Given the description of an element on the screen output the (x, y) to click on. 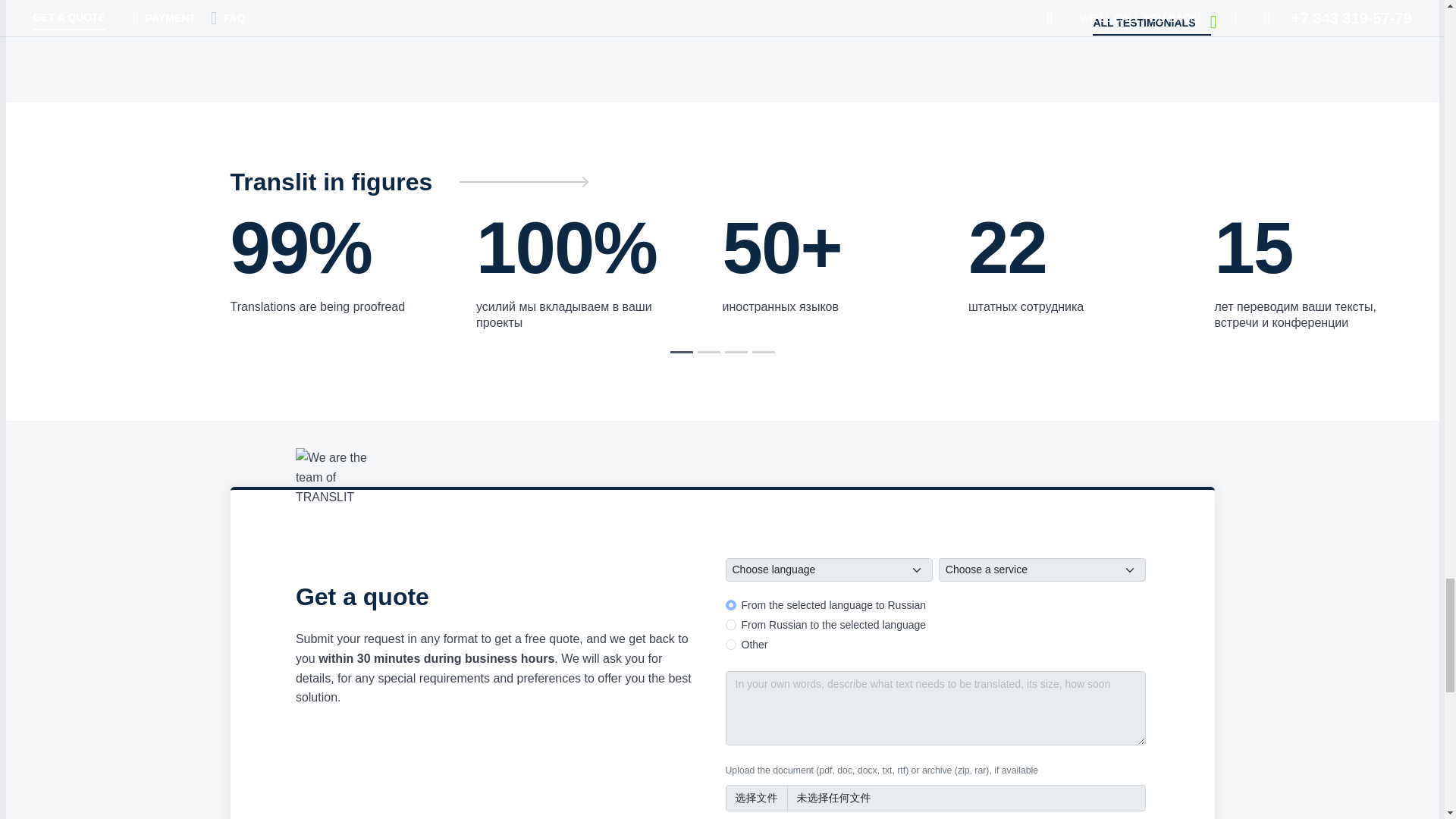
From the selected language to Russian (730, 604)
From Russian to the selected language (730, 624)
Other (730, 644)
